Given the description of an element on the screen output the (x, y) to click on. 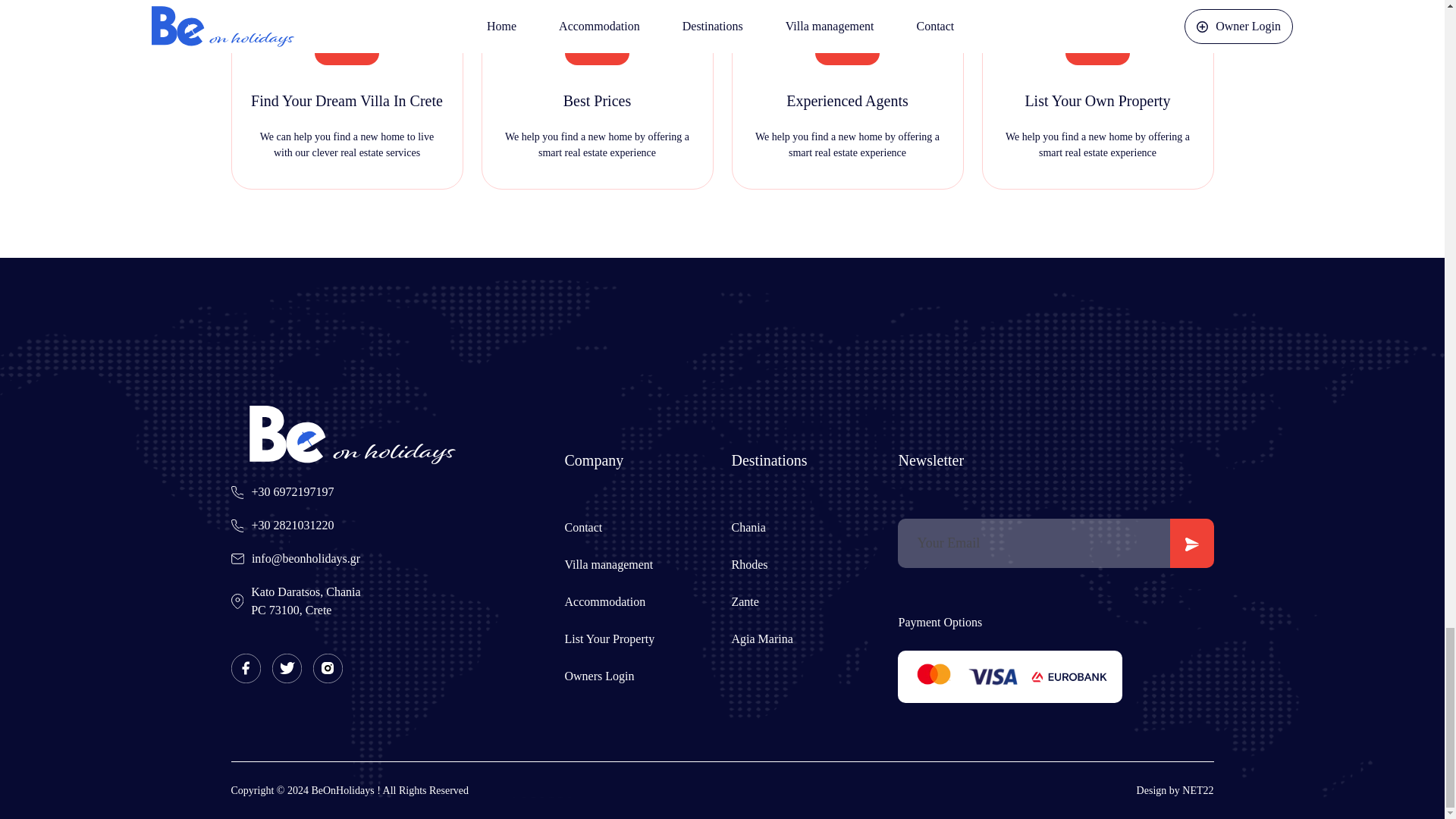
Villa management (608, 563)
List Your Property (608, 638)
Chania (747, 526)
Owners Login (598, 675)
Accommodation (604, 601)
Zante (744, 601)
Contact (304, 601)
Agia Marina (583, 526)
Rhodes (761, 638)
